Given the description of an element on the screen output the (x, y) to click on. 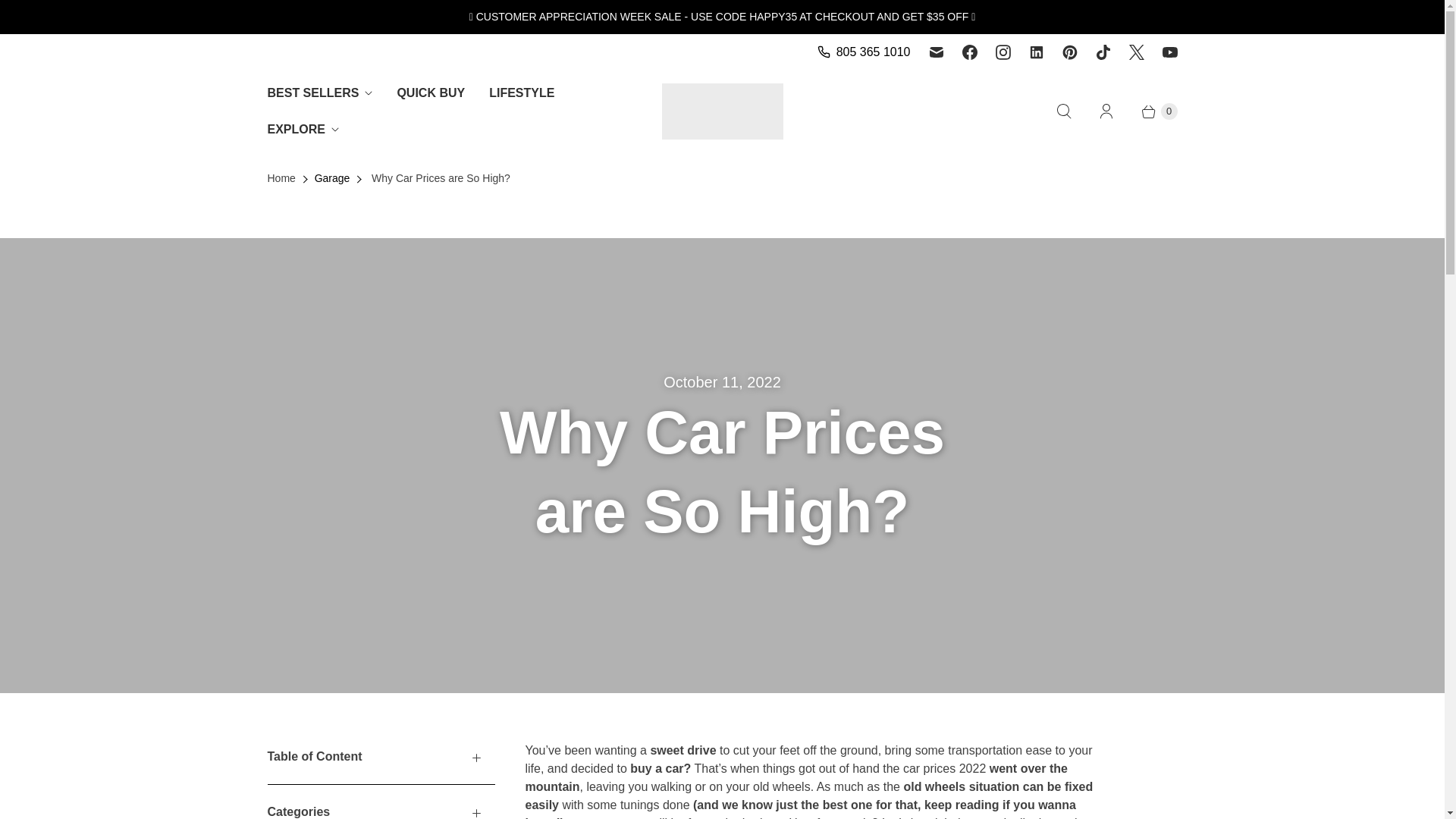
LIFESTYLE (521, 93)
805 365 1010 (861, 52)
QUICK BUY (430, 93)
